Given the description of an element on the screen output the (x, y) to click on. 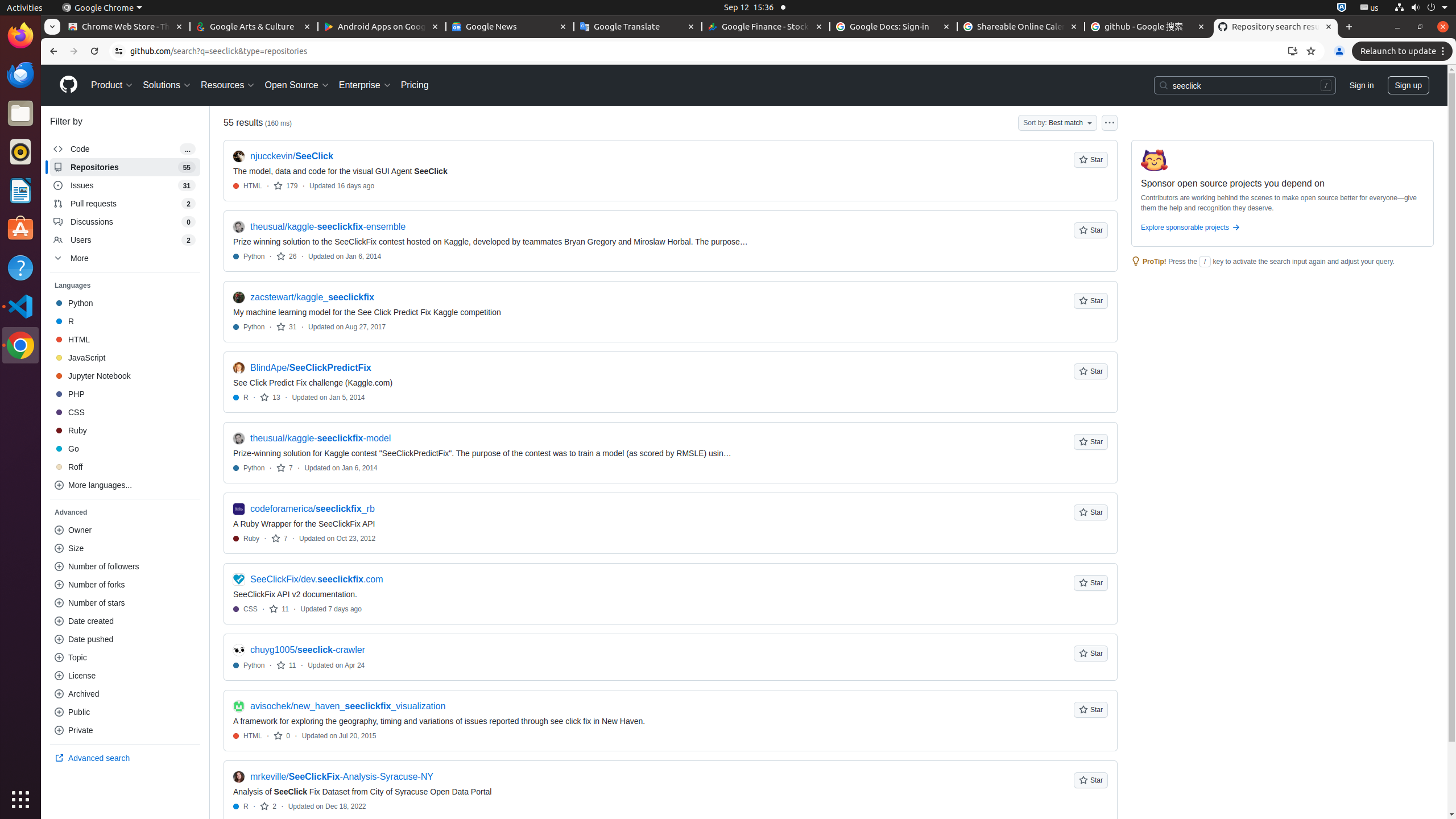
Resources Element type: push-button (227, 84)
njucckevin/SeeClick Element type: link (291, 156)
‎HTML‎ Element type: link (125, 339)
Issues , 31 results  (31) Element type: link (125, 185)
avisochek/new_haven_seeclickfix_visualization Element type: link (347, 706)
